Given the description of an element on the screen output the (x, y) to click on. 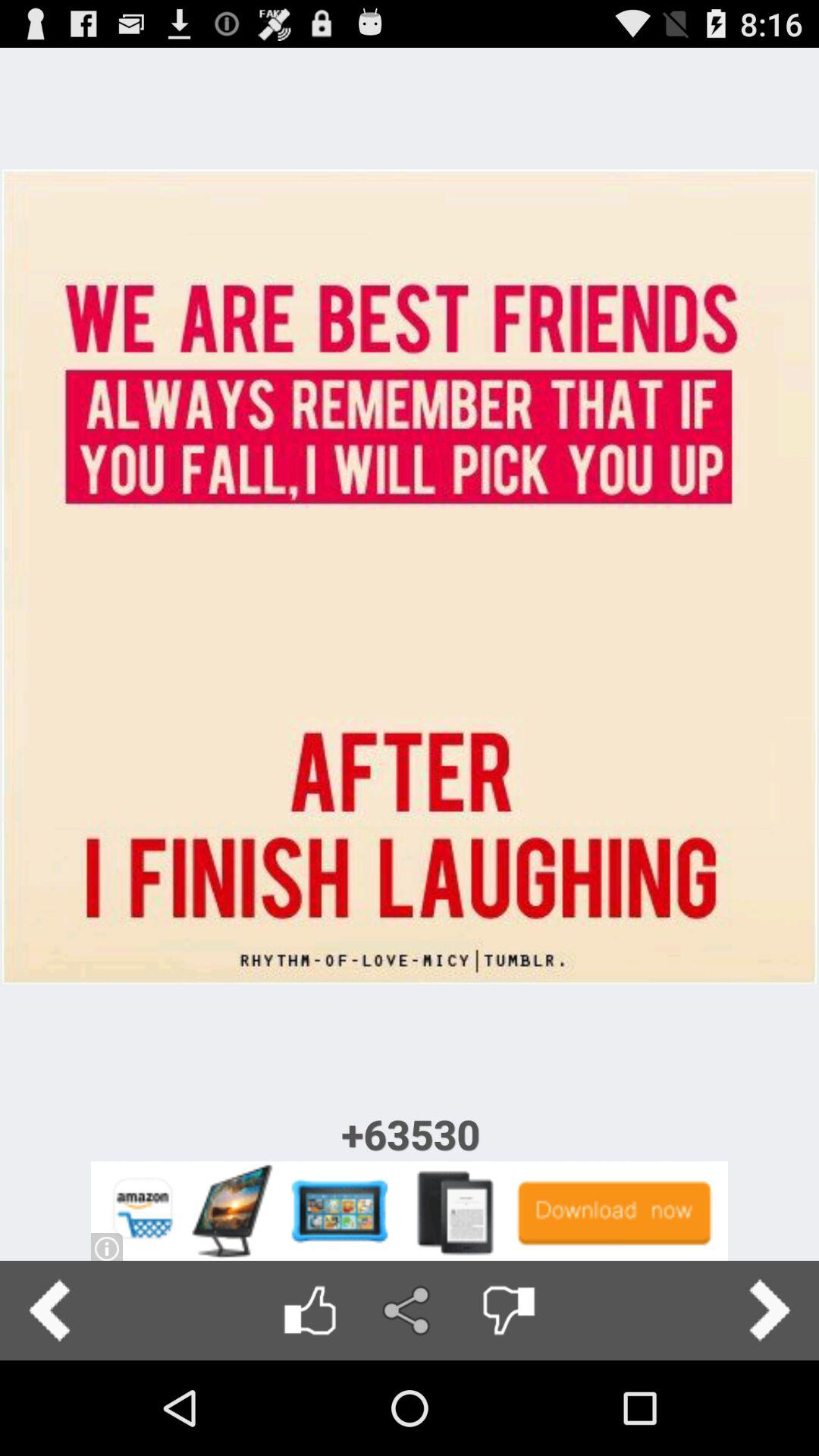
dislike (508, 1310)
